Given the description of an element on the screen output the (x, y) to click on. 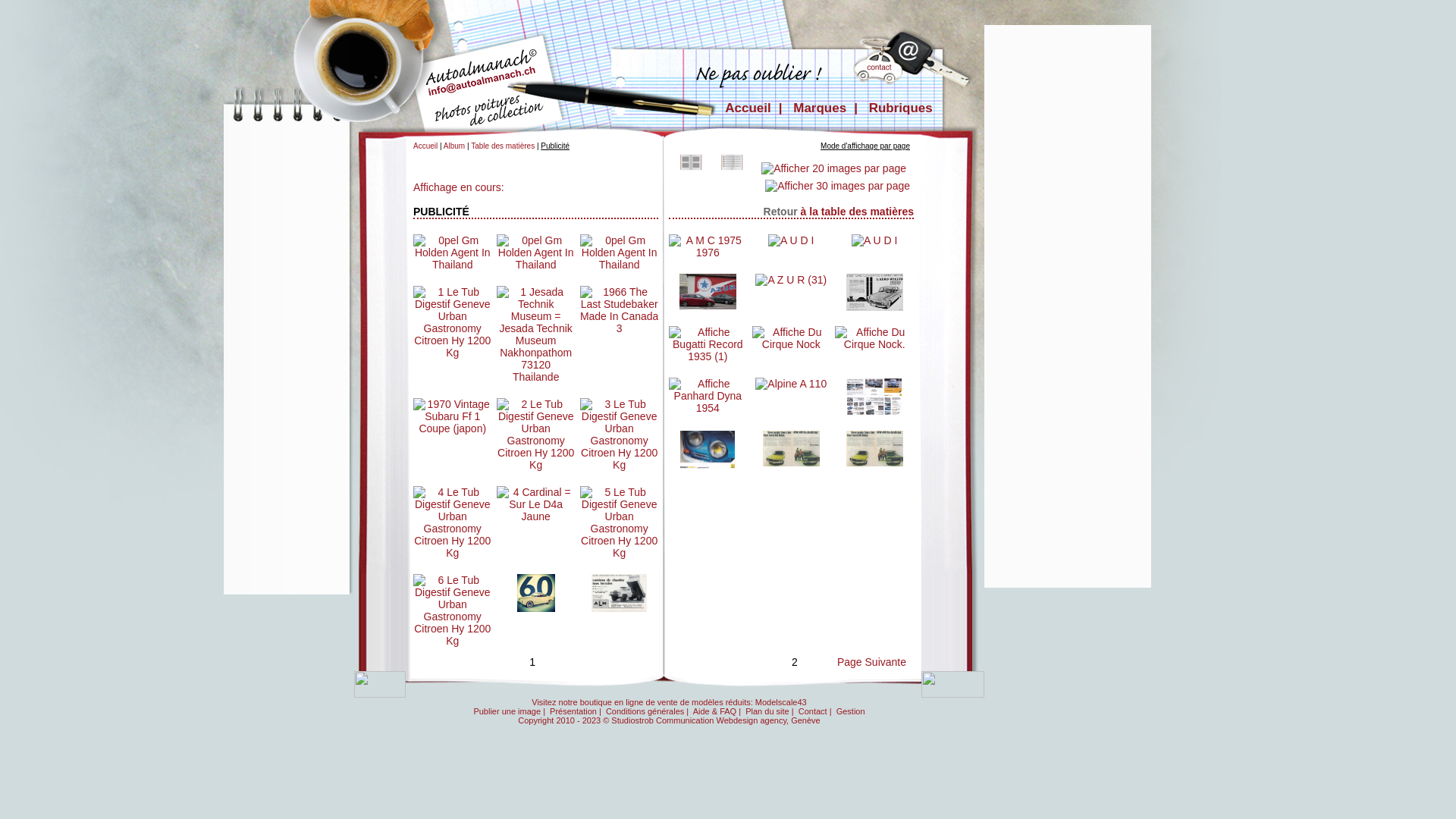
Marques Element type: text (819, 107)
Alpine Renault A110 (france) Pub La Saga De La Berlinette Element type: hover (874, 396)
Accueil Element type: text (425, 145)
60th Anniversary Of The Volkswagen Karmann Ghia Element type: hover (536, 592)
Affiche Du Cirque Nock Element type: hover (791, 338)
0pel   Gm   Holden Agent In Thailand Element type: hover (452, 252)
A U D I Element type: hover (790, 240)
Aero Willys (bresil) Element type: hover (874, 291)
Afficher 4 images par page Element type: hover (690, 161)
4 Cardinal = Sur Le D4a Jaune Element type: hover (535, 504)
Rubriques Element type: text (900, 107)
Afficher 30 images par page Element type: hover (835, 184)
A Z U R Element type: hover (707, 291)
A U D I Element type: hover (874, 240)
Afficher 10 images par page Element type: hover (731, 161)
Advertisement Element type: hover (1052, 66)
Advertisement Element type: hover (1052, 352)
Retour Element type: text (780, 211)
Afficher 20 images par page Element type: hover (833, 166)
Album Element type: text (453, 145)
Affiche Du Cirque Nock. Element type: hover (873, 338)
Alpine Renault A110 (france) Pub La Saga De La Berlinette  Element type: hover (707, 449)
1966   The Last Studebaker Made In Canada  3  Element type: hover (619, 309)
Gestion Element type: text (850, 710)
Publier une image Element type: text (506, 710)
Amc, Javelin & Rebel Element type: hover (874, 448)
Contact Element type: text (812, 710)
Alpine  A 110 Element type: hover (790, 383)
0pel   Gm   Holden Agent In Thailand Element type: hover (535, 252)
Plan du site Element type: text (766, 710)
1970 Vintage Subaru Ff 1 Coupe (japon) Element type: hover (452, 416)
Page Suivante Element type: text (871, 661)
Accueil Element type: text (747, 107)
Aide & FAQ Element type: text (714, 710)
Affiche Bugatti Record 1935 (1) Element type: hover (707, 344)
Studiostrob Communication Webdesign agency Element type: text (698, 719)
0pel   Gm   Holden Agent In Thailand Element type: hover (619, 252)
Amc, Javelin & Rebel Element type: hover (790, 448)
Affiche Panhard Dyna 1954 Element type: hover (707, 395)
A L M Element type: hover (618, 592)
A M C  1975 1976 Element type: hover (707, 246)
Advertisement Element type: hover (286, 358)
A Z U R   (31) Element type: hover (790, 279)
